Given the description of an element on the screen output the (x, y) to click on. 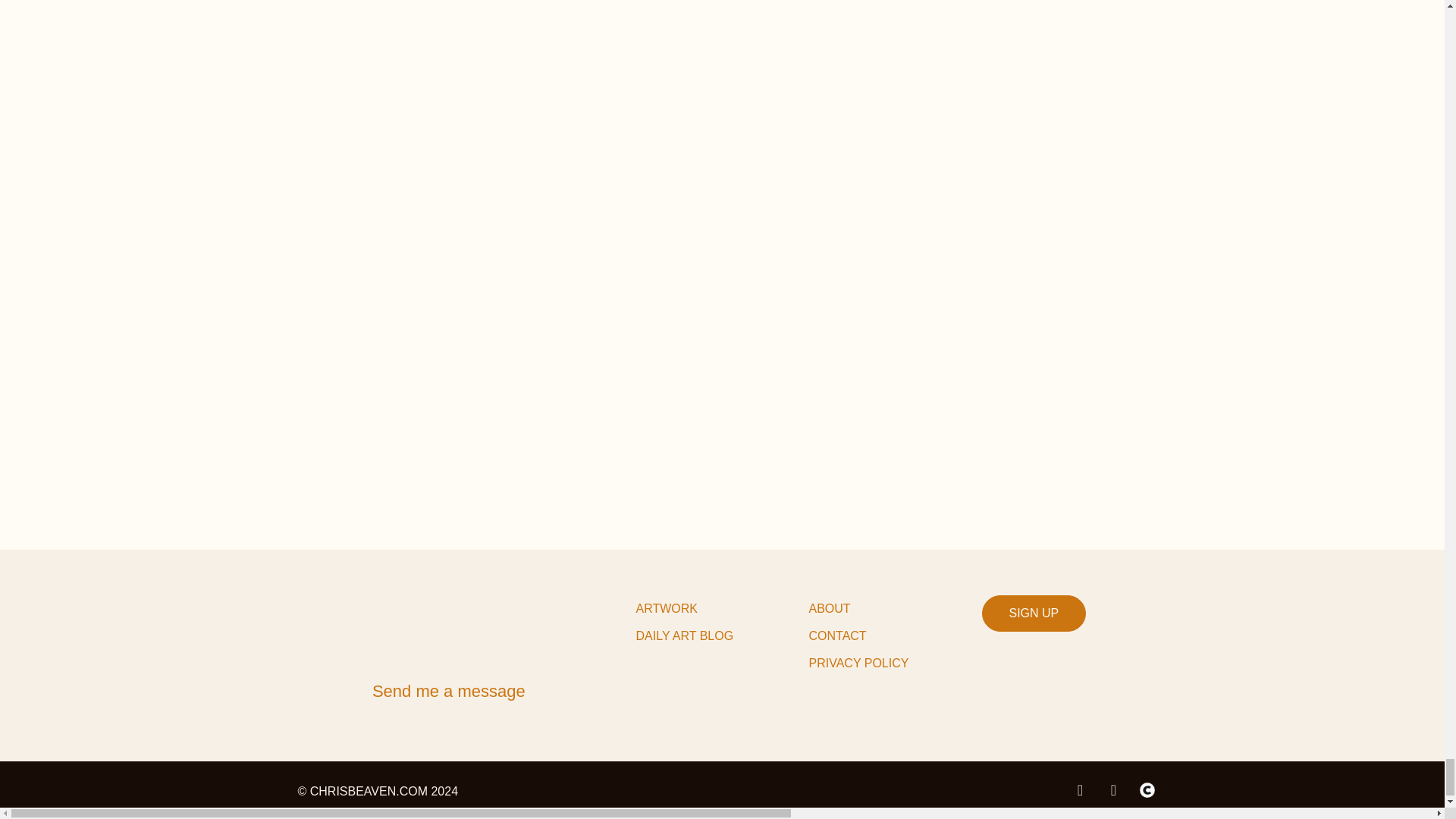
DAILY ART BLOG (721, 636)
ARTWORK (721, 608)
ABOUT (894, 608)
PRIVACY POLICY (894, 663)
CONTACT (894, 636)
Send me a message (448, 691)
